Given the description of an element on the screen output the (x, y) to click on. 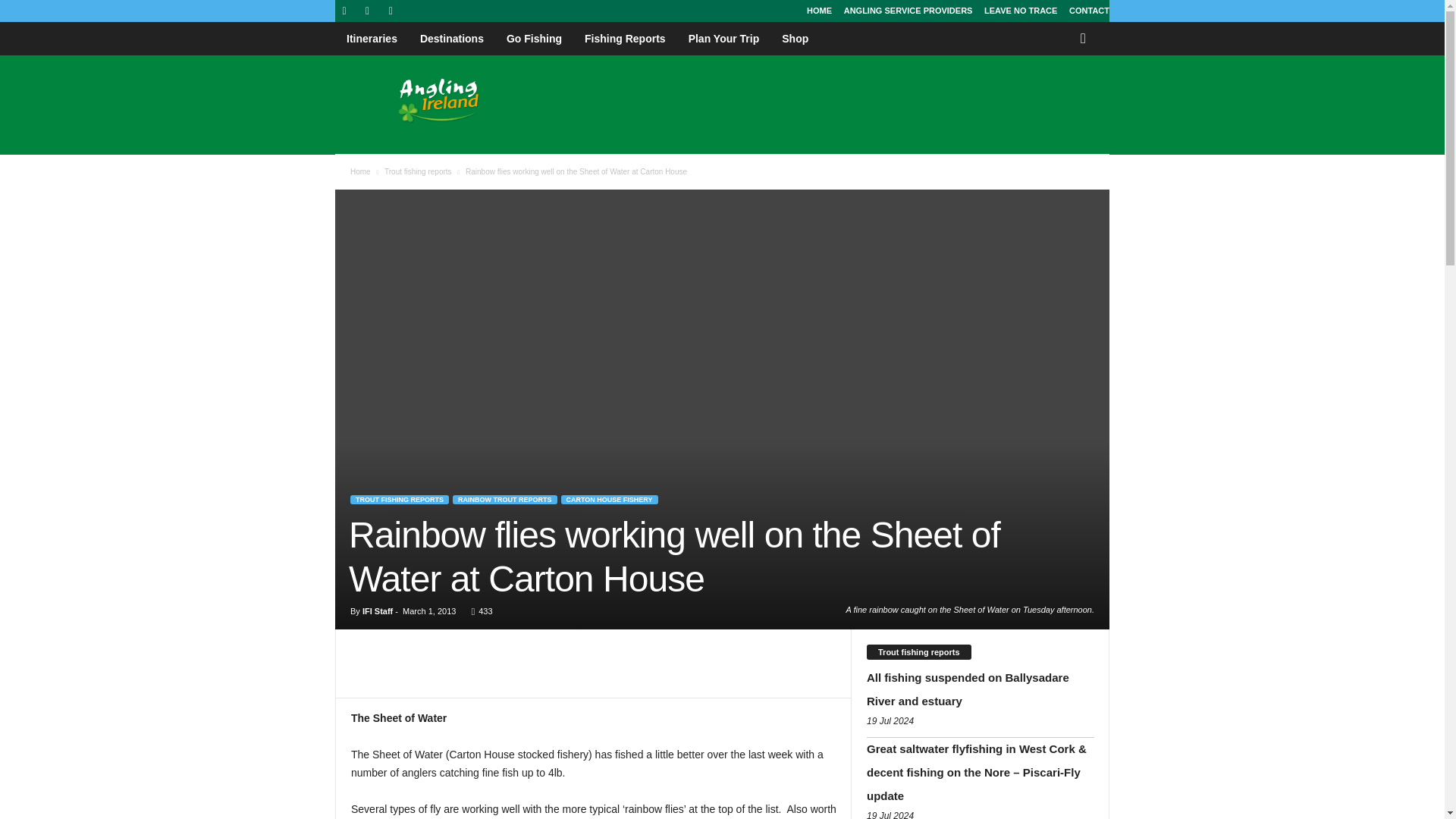
Youtube (389, 11)
Twitter (367, 11)
Facebook (343, 11)
